Given the description of an element on the screen output the (x, y) to click on. 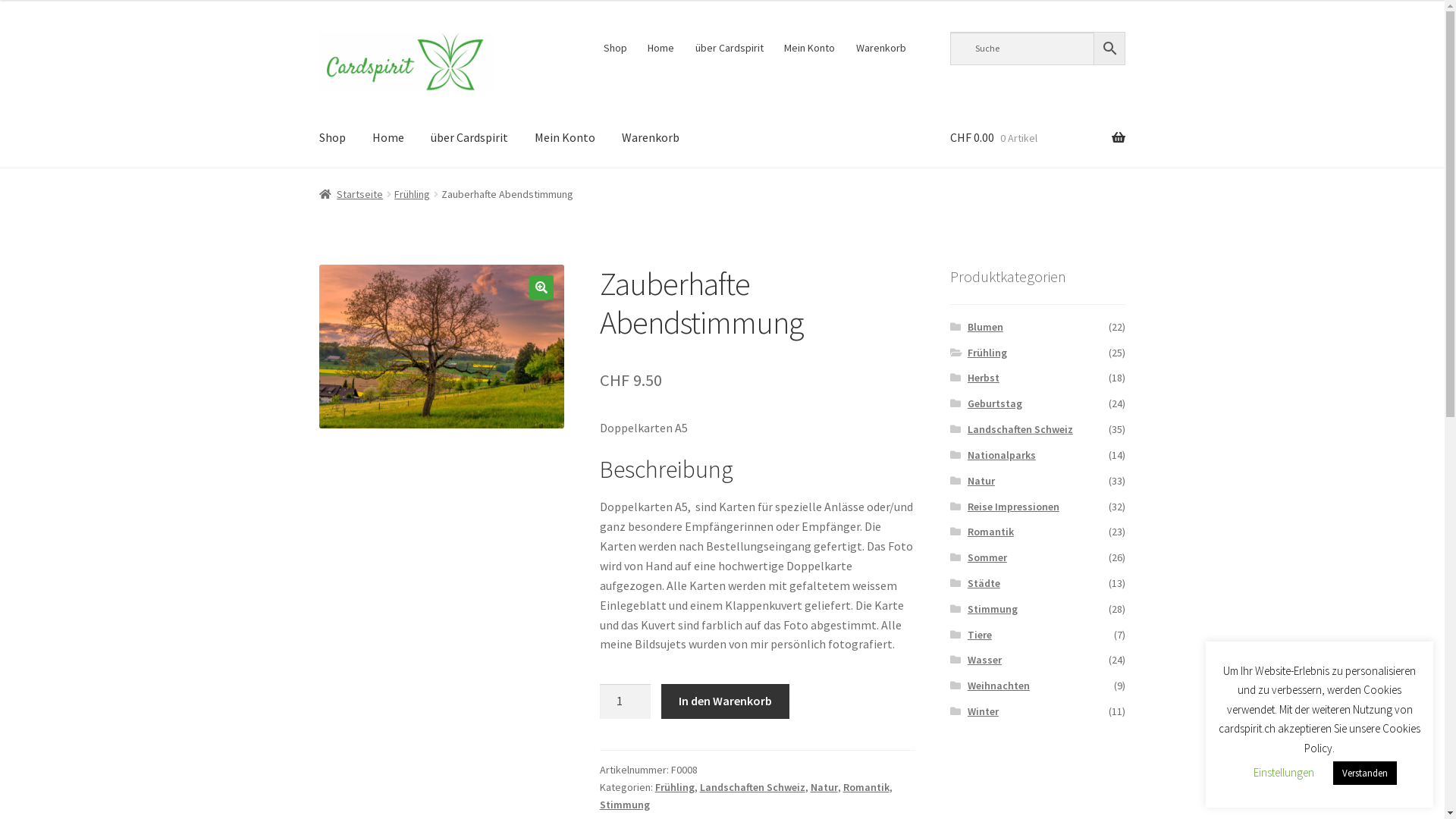
D85_2060_F0008 Element type: hover (441, 346)
Sommer Element type: text (987, 557)
Zur Navigation springen Element type: text (318, 31)
Nationalparks Element type: text (1001, 454)
Stimmung Element type: text (992, 608)
Landschaften Schweiz Element type: text (1020, 429)
Warenkorb Element type: text (650, 137)
In den Warenkorb Element type: text (724, 701)
Startseite Element type: text (351, 193)
CHF 0.00 0 Artikel Element type: text (1037, 137)
Geburtstag Element type: text (994, 403)
Mein Konto Element type: text (564, 137)
Natur Element type: text (823, 786)
Herbst Element type: text (983, 377)
Romantik Element type: text (866, 786)
Natur Element type: text (980, 480)
Winter Element type: text (982, 711)
Warenkorb Element type: text (880, 47)
Verstanden Element type: text (1364, 772)
Shop Element type: text (332, 137)
Home Element type: text (661, 47)
Wasser Element type: text (984, 659)
Einstellungen Element type: text (1283, 772)
Blumen Element type: text (985, 326)
Landschaften Schweiz Element type: text (752, 786)
Stimmung Element type: text (624, 804)
Home Element type: text (388, 137)
Weihnachten Element type: text (998, 685)
Romantik Element type: text (990, 531)
Shop Element type: text (614, 47)
Reise Impressionen Element type: text (1013, 506)
Mein Konto Element type: text (809, 47)
Tiere Element type: text (979, 634)
